Given the description of an element on the screen output the (x, y) to click on. 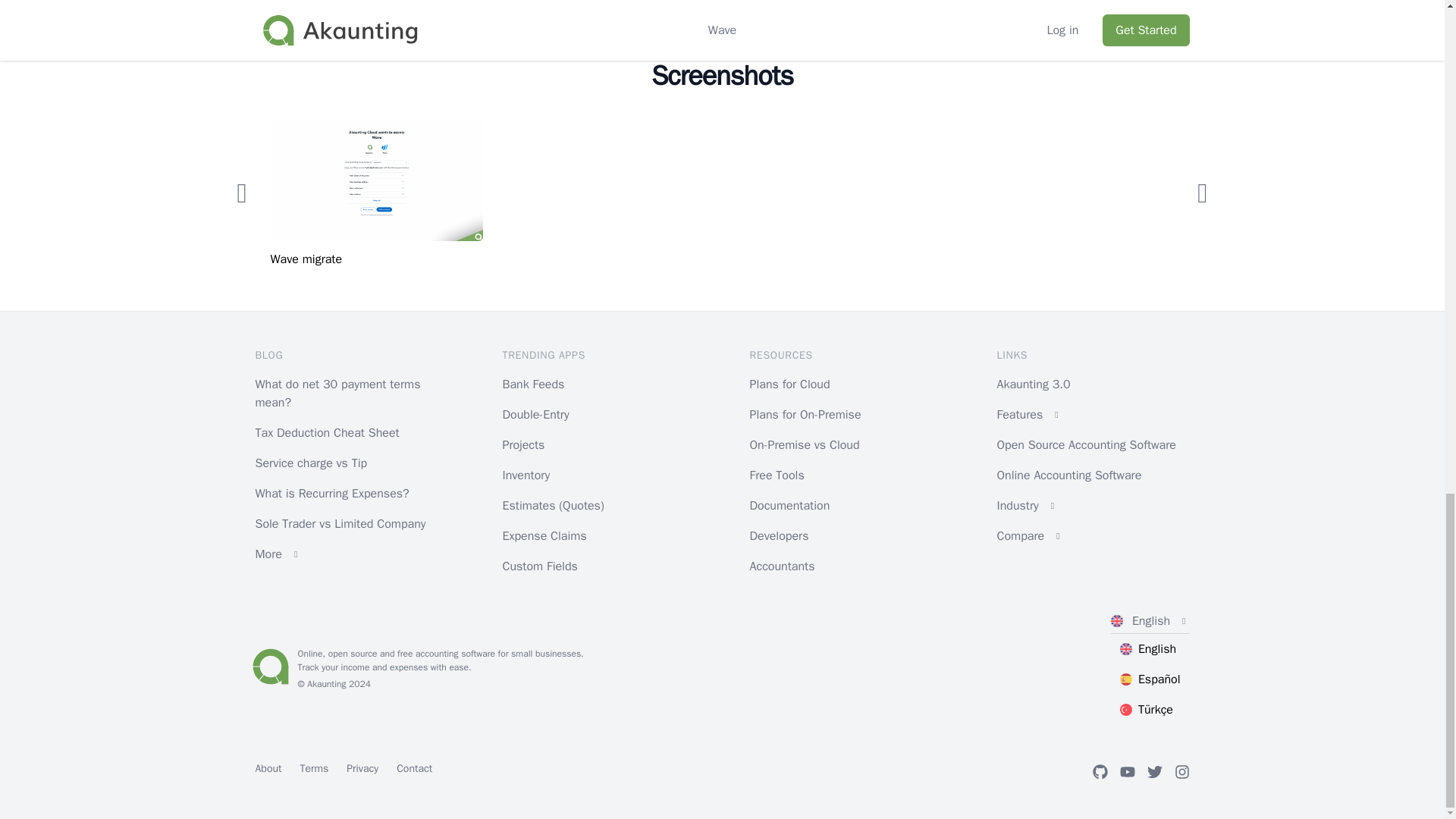
What is Recurring Expenses? (331, 493)
Sole Trader vs Limited Company (339, 523)
Service charge vs Tip (310, 462)
Bank Feeds (533, 384)
More (350, 554)
Wave migrate (375, 203)
What do net 30 payment terms mean? (337, 393)
Tax Deduction Cheat Sheet (326, 432)
Double-Entry (535, 414)
